Given the description of an element on the screen output the (x, y) to click on. 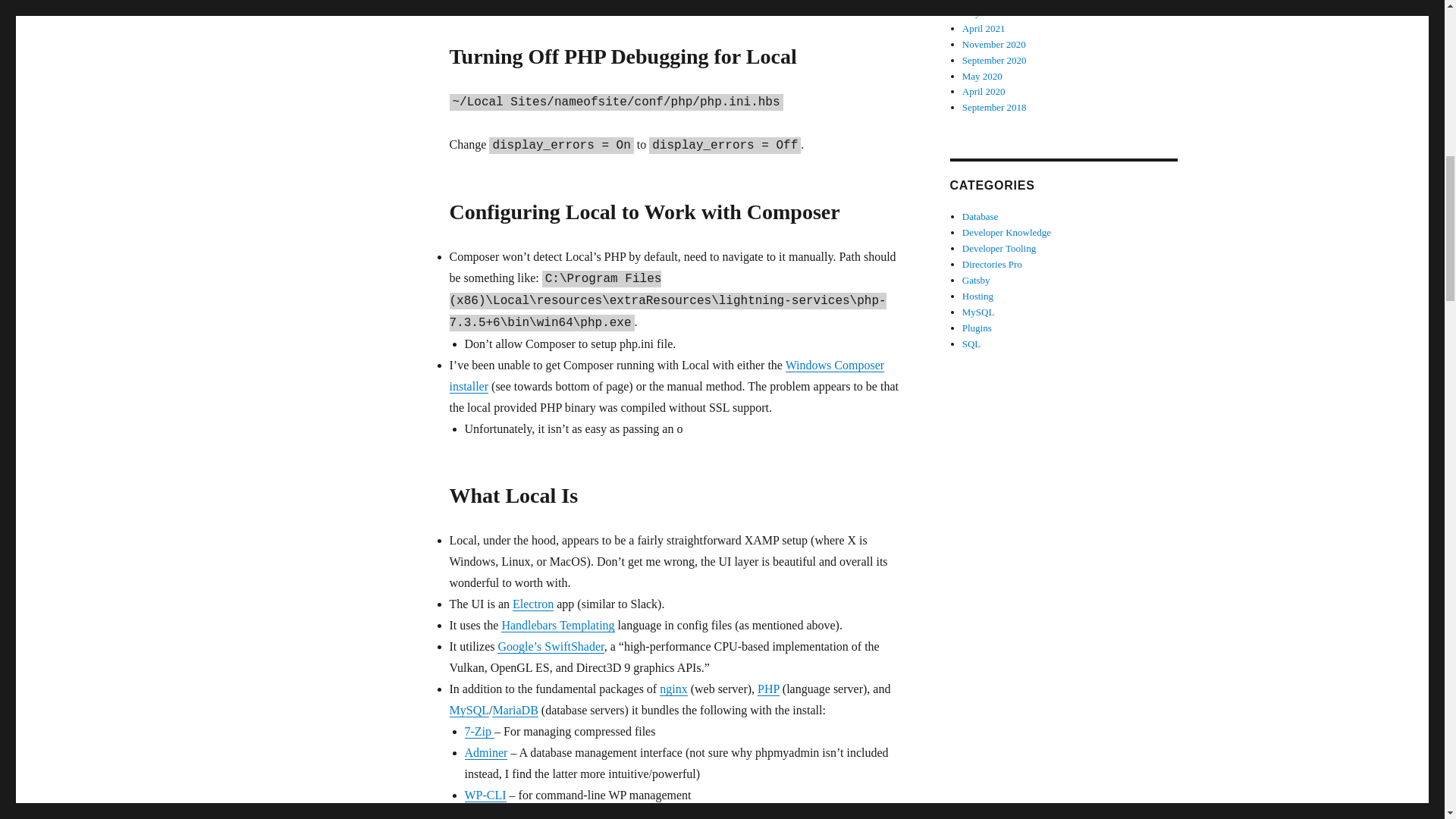
MariaDB (514, 709)
Handlebars Templating (557, 625)
nginx (673, 688)
WP Engine DevKit (510, 814)
WP-CLI (484, 794)
Electron (532, 603)
7-Zip (479, 730)
MySQL (467, 709)
PHP (767, 688)
Adminer (485, 752)
